Given the description of an element on the screen output the (x, y) to click on. 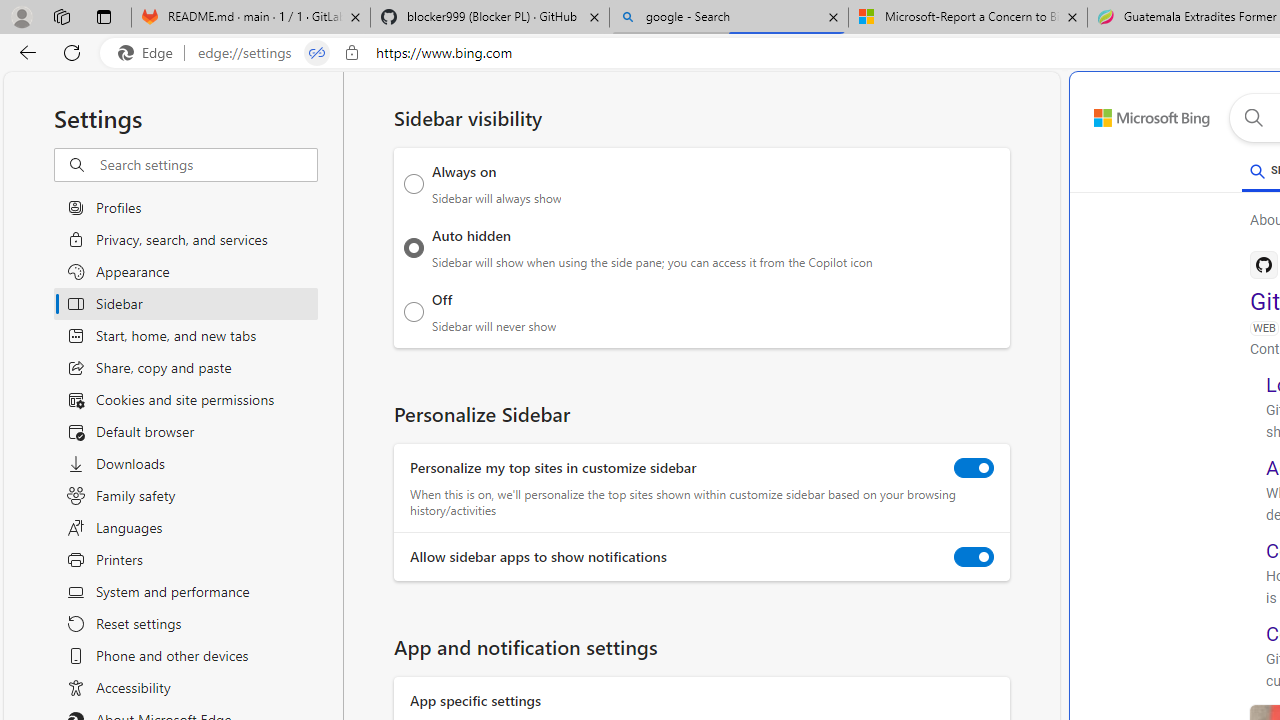
Always on Sidebar will always show (413, 183)
Search button (1253, 117)
Back to Bing search (1139, 113)
Personalize my top sites in customize sidebar (973, 467)
Off Sidebar will never show (413, 311)
Search settings (207, 165)
